Given the description of an element on the screen output the (x, y) to click on. 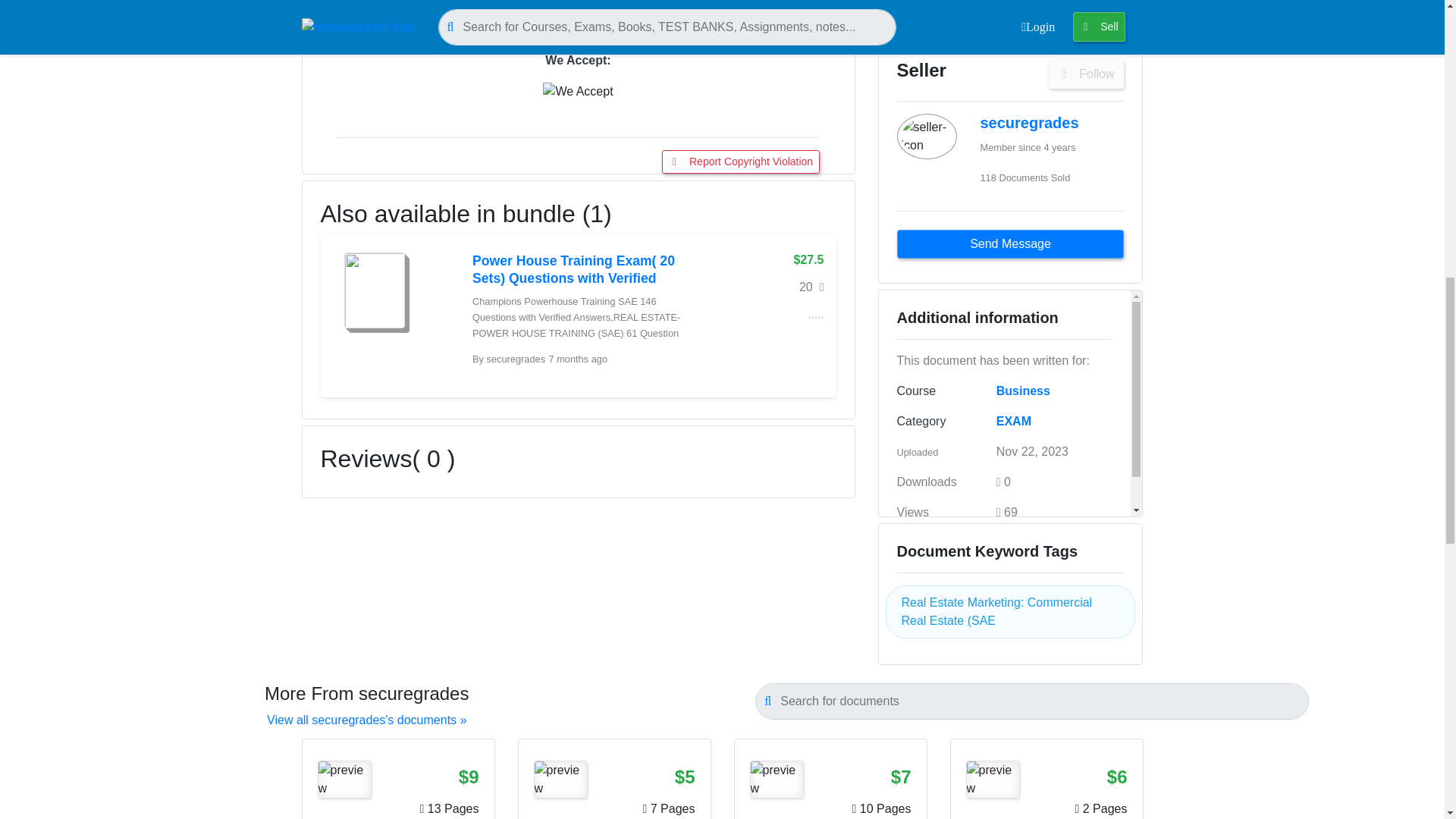
Please login to follow other members (1086, 73)
